Given the description of an element on the screen output the (x, y) to click on. 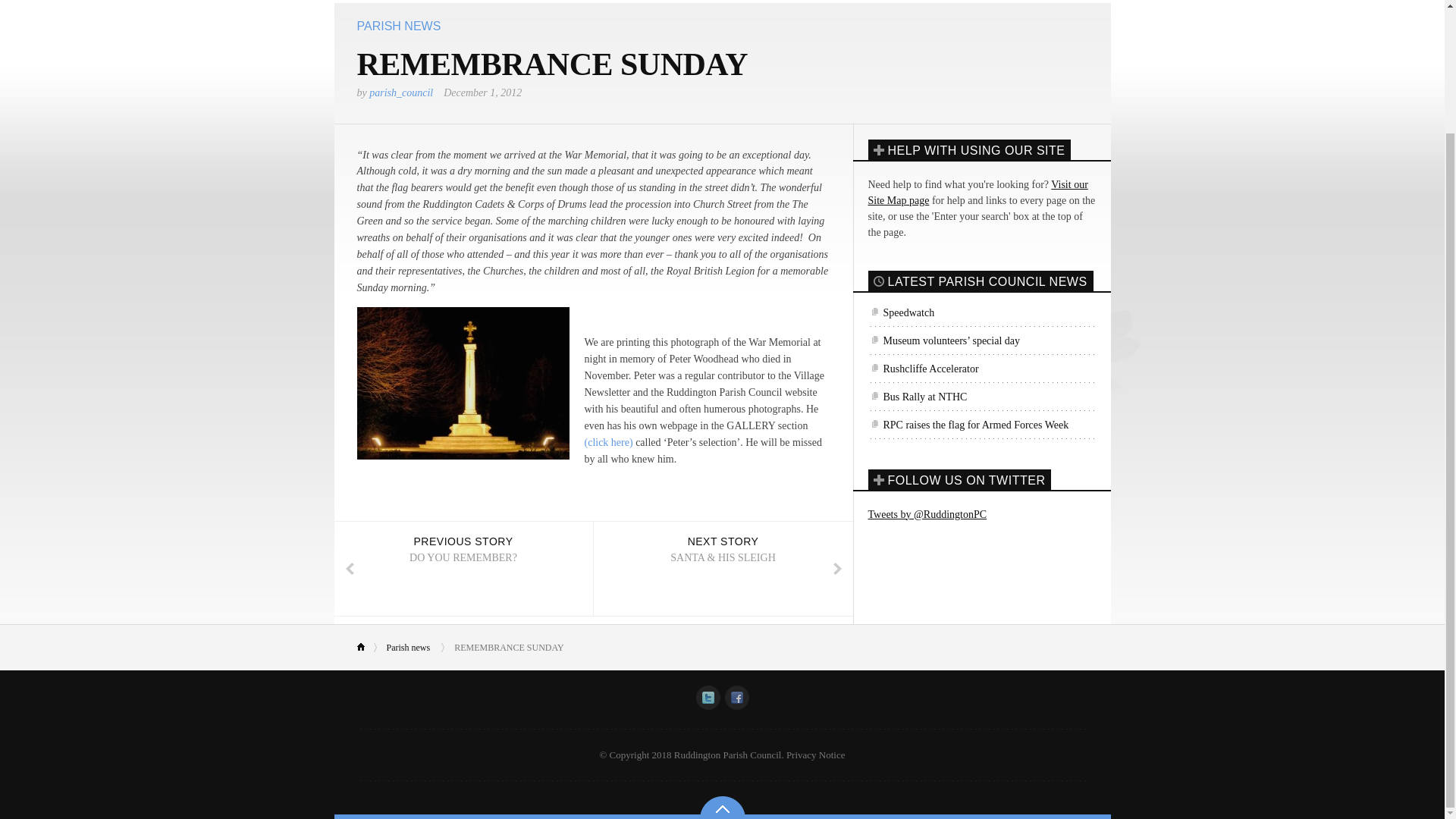
Site map (977, 192)
War Memorial (462, 383)
